Given the description of an element on the screen output the (x, y) to click on. 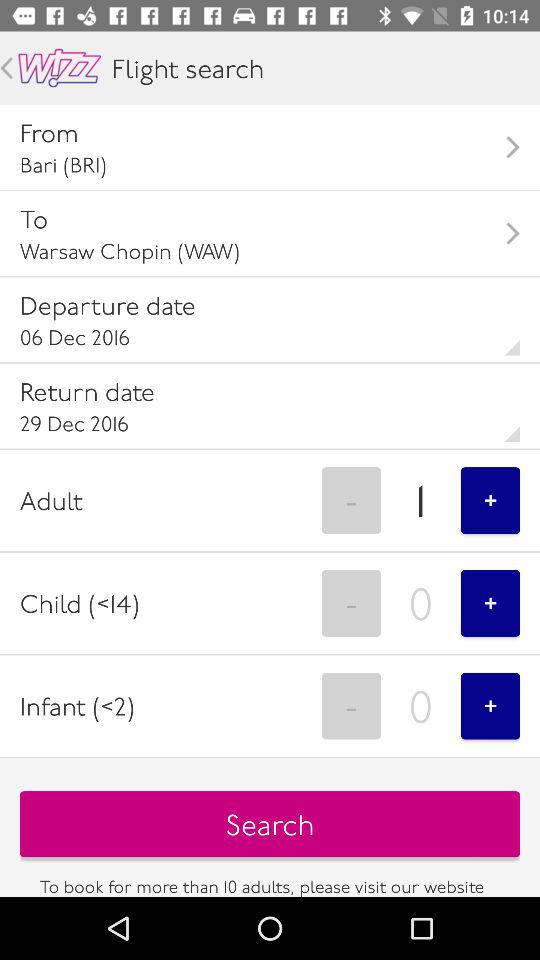
open the item to the left of 0 (351, 705)
